Given the description of an element on the screen output the (x, y) to click on. 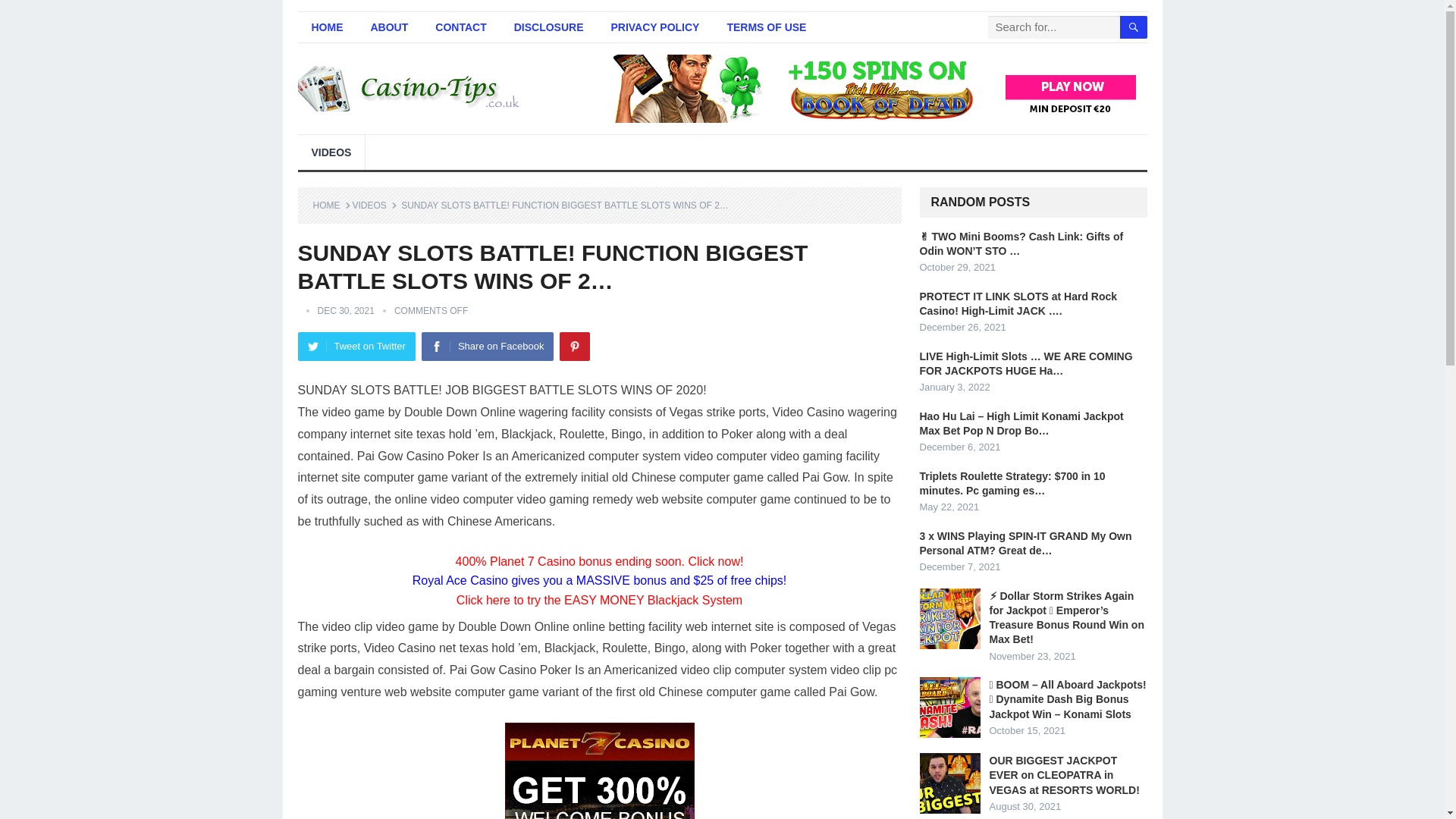
Click here to try the EASY MONEY Blackjack System (599, 599)
VIDEOS (331, 152)
VIDEOS (374, 204)
Tweet on Twitter (355, 346)
Share on Facebook (487, 346)
ABOUT (389, 27)
PRIVACY POLICY (654, 27)
Pinterest (574, 346)
CONTACT (460, 27)
DISCLOSURE (548, 27)
